Given the description of an element on the screen output the (x, y) to click on. 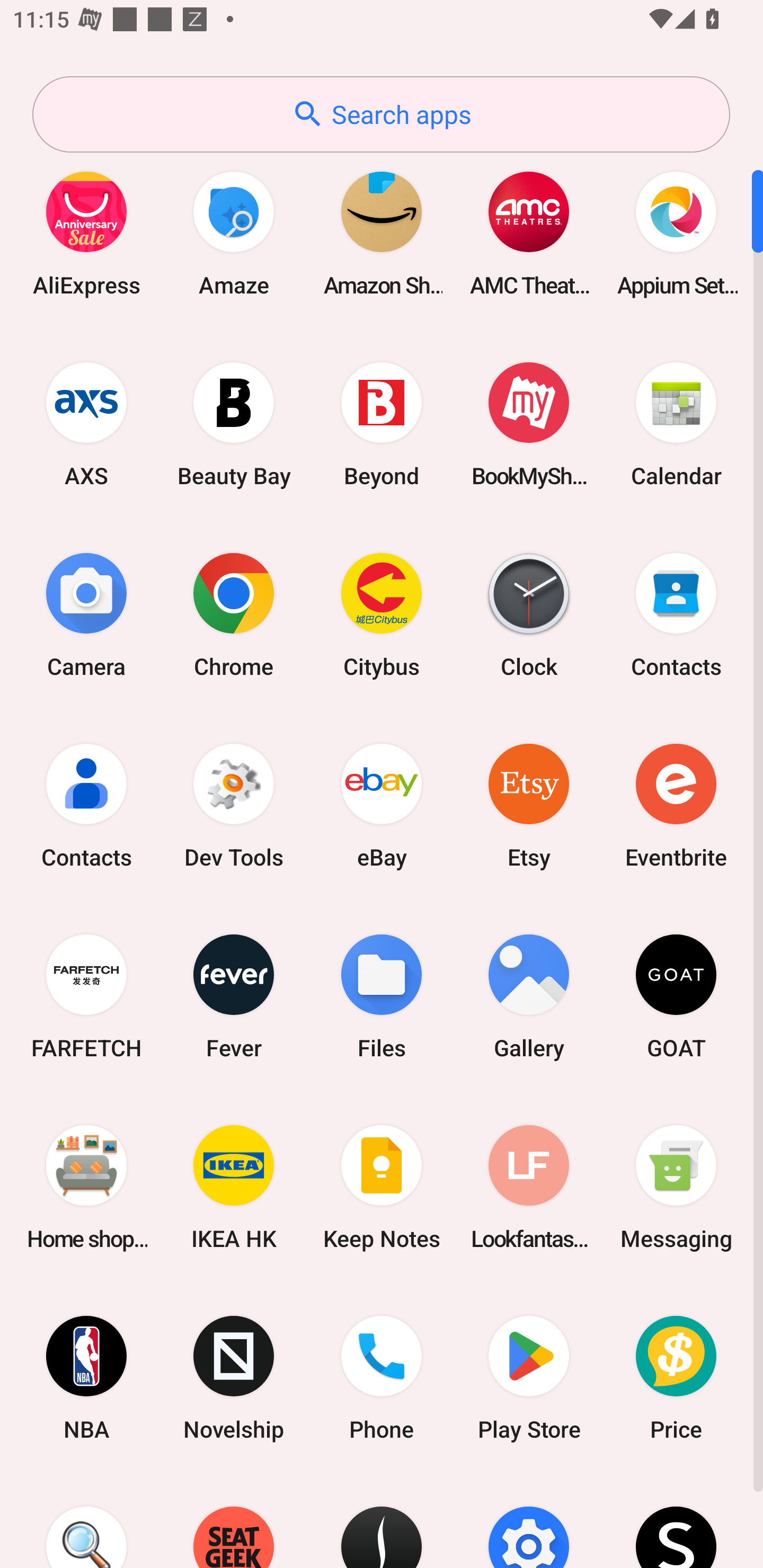
  Search apps (381, 114)
AliExpress (86, 233)
Amaze (233, 233)
Amazon Shopping (381, 233)
AMC Theatres (528, 233)
Appium Settings (676, 233)
AXS (86, 424)
Beauty Bay (233, 424)
Beyond (381, 424)
BookMyShow (528, 424)
Calendar (676, 424)
Camera (86, 614)
Chrome (233, 614)
Citybus (381, 614)
Clock (528, 614)
Contacts (676, 614)
Contacts (86, 805)
Dev Tools (233, 805)
eBay (381, 805)
Etsy (528, 805)
Eventbrite (676, 805)
FARFETCH (86, 996)
Fever (233, 996)
Files (381, 996)
Gallery (528, 996)
GOAT (676, 996)
Home shopping (86, 1186)
IKEA HK (233, 1186)
Keep Notes (381, 1186)
Lookfantastic (528, 1186)
Messaging (676, 1186)
NBA (86, 1377)
Novelship (233, 1377)
Phone (381, 1377)
Play Store (528, 1377)
Price (676, 1377)
